Given the description of an element on the screen output the (x, y) to click on. 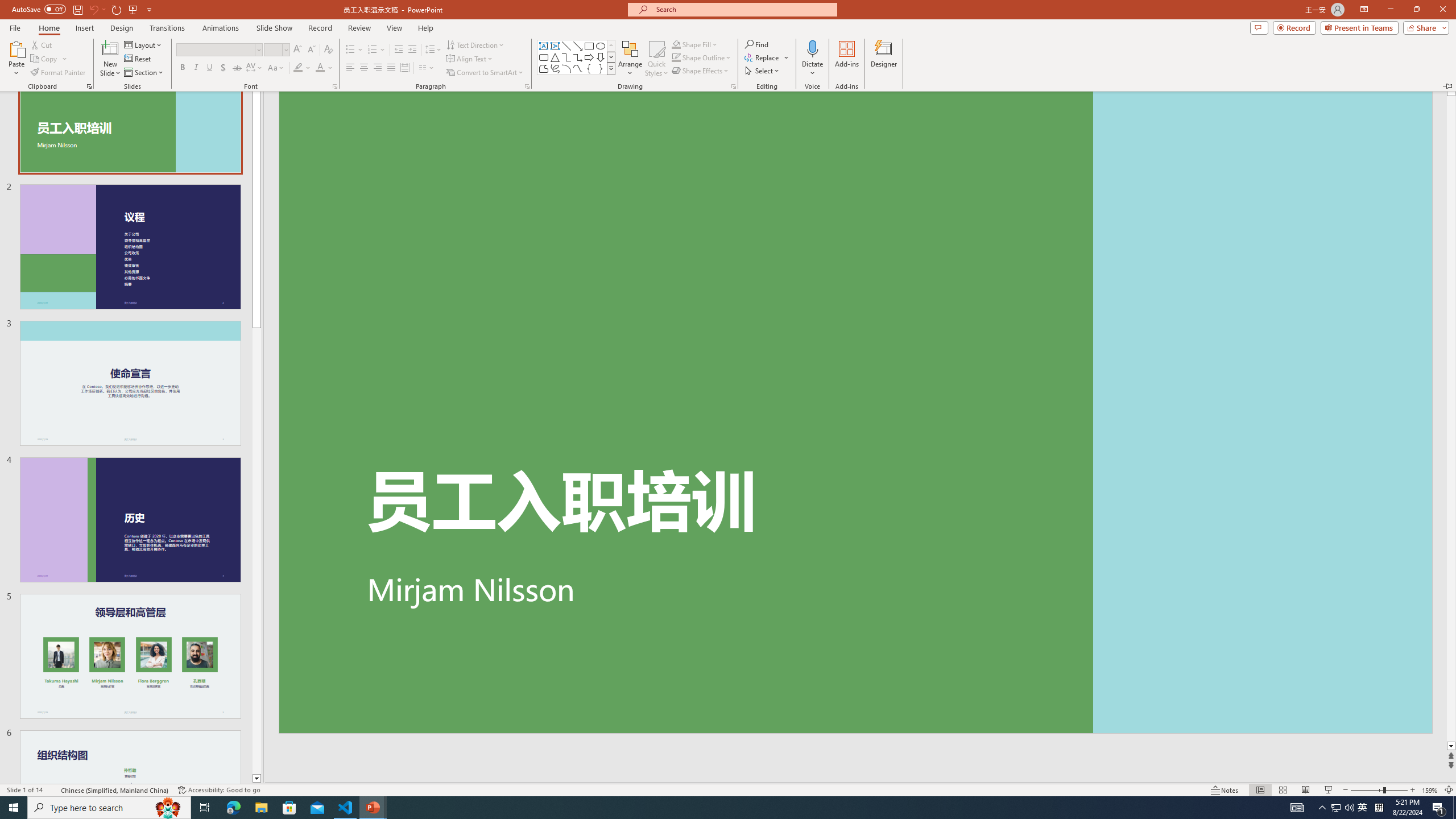
User Promoted Notification Area (1335, 807)
Accessibility Checker Accessibility: Good to go (1342, 807)
Start (218, 790)
Visual Studio Code - 1 running window (13, 807)
Notification Chevron (345, 807)
